Given the description of an element on the screen output the (x, y) to click on. 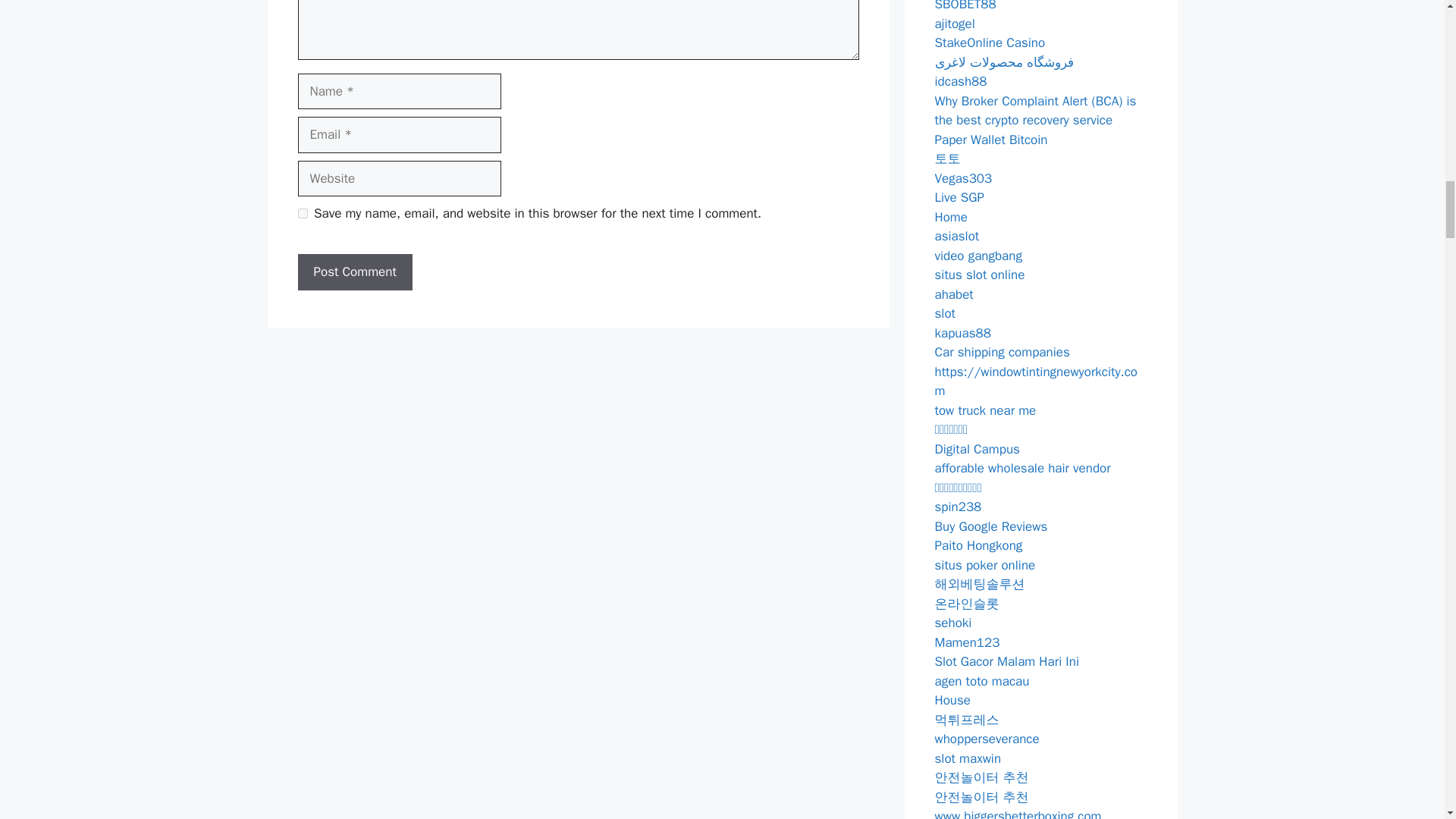
Post Comment (354, 271)
yes (302, 213)
Post Comment (354, 271)
